Given the description of an element on the screen output the (x, y) to click on. 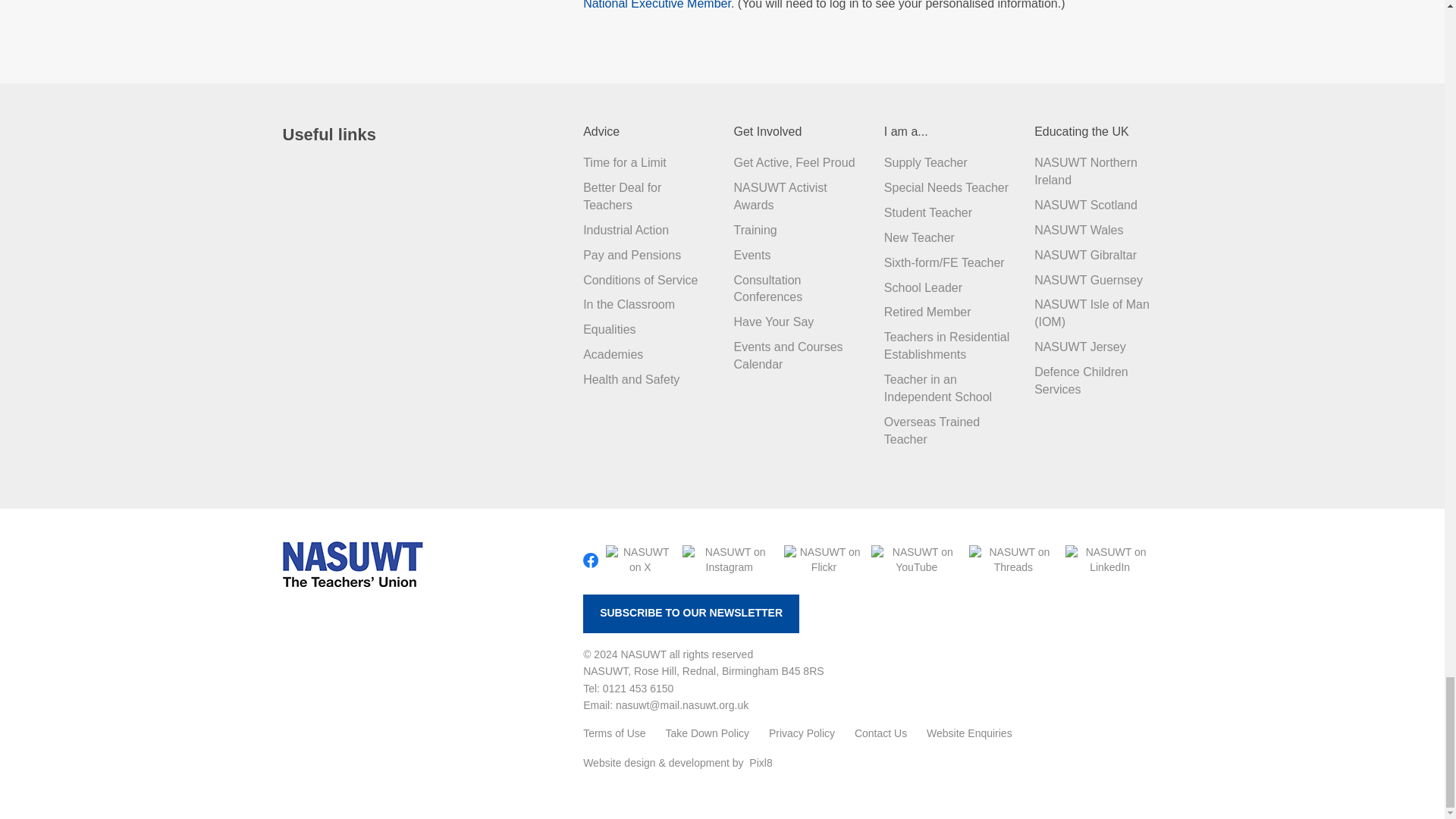
Time for a Limit (624, 162)
School Leader (922, 287)
Conditions of Service (640, 279)
New Teacher (919, 237)
Get Active, Feel Proud (793, 162)
Better Deal for Teachers (622, 195)
Special Needs Teacher (946, 187)
Student Teacher (927, 212)
NASUWT Activist Awards (780, 195)
Supply Teacher (925, 162)
